Given the description of an element on the screen output the (x, y) to click on. 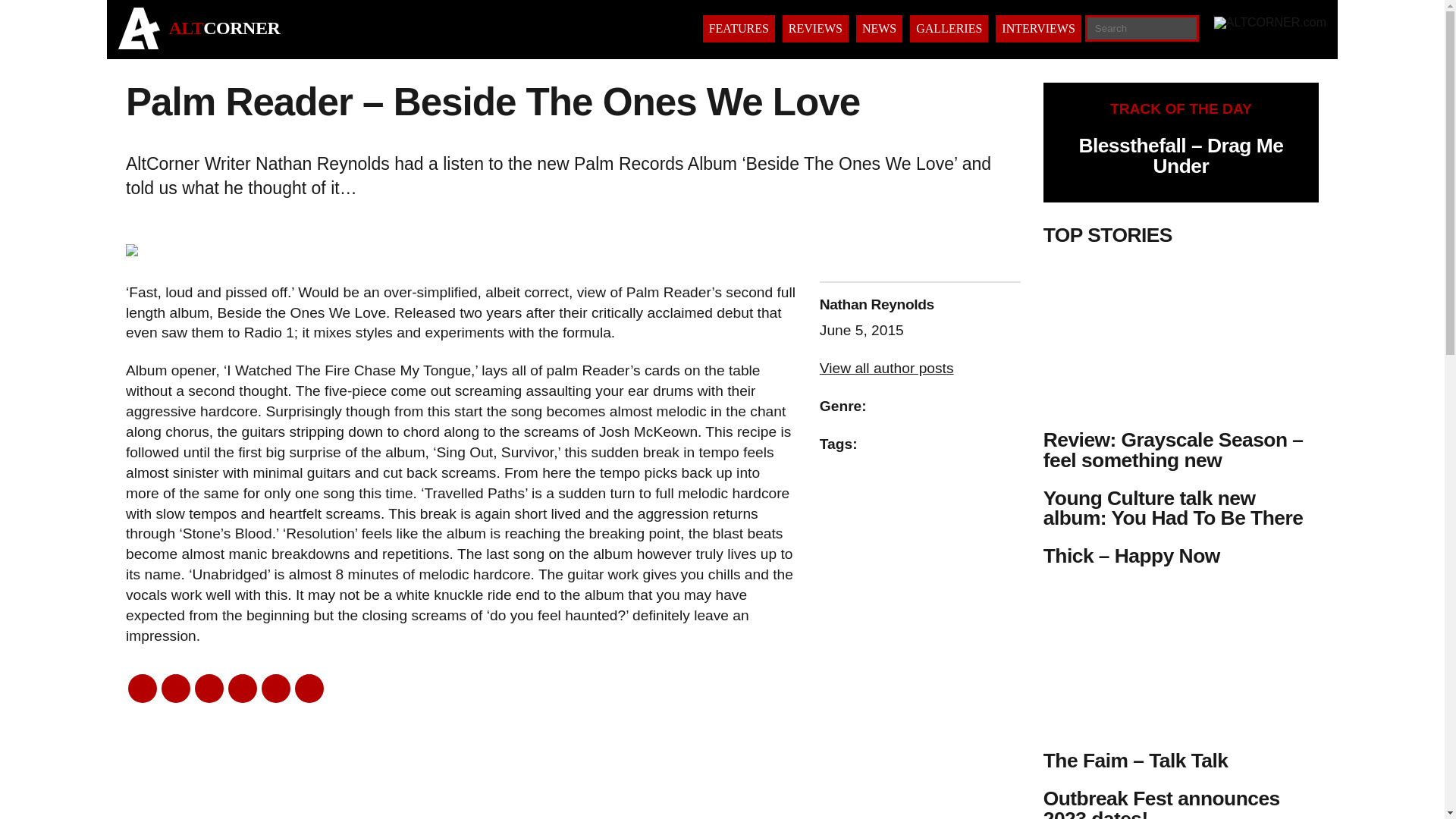
ALTCORNER.com (138, 44)
ALTCORNER (223, 27)
Young Culture talk new album: You Had To Be There (1173, 507)
Search (56, 13)
ALTCORNER.com (223, 27)
FEATURES (738, 28)
View all author posts (886, 367)
INTERVIEWS (1037, 28)
View all author posts (886, 367)
REVIEWS (816, 28)
